Given the description of an element on the screen output the (x, y) to click on. 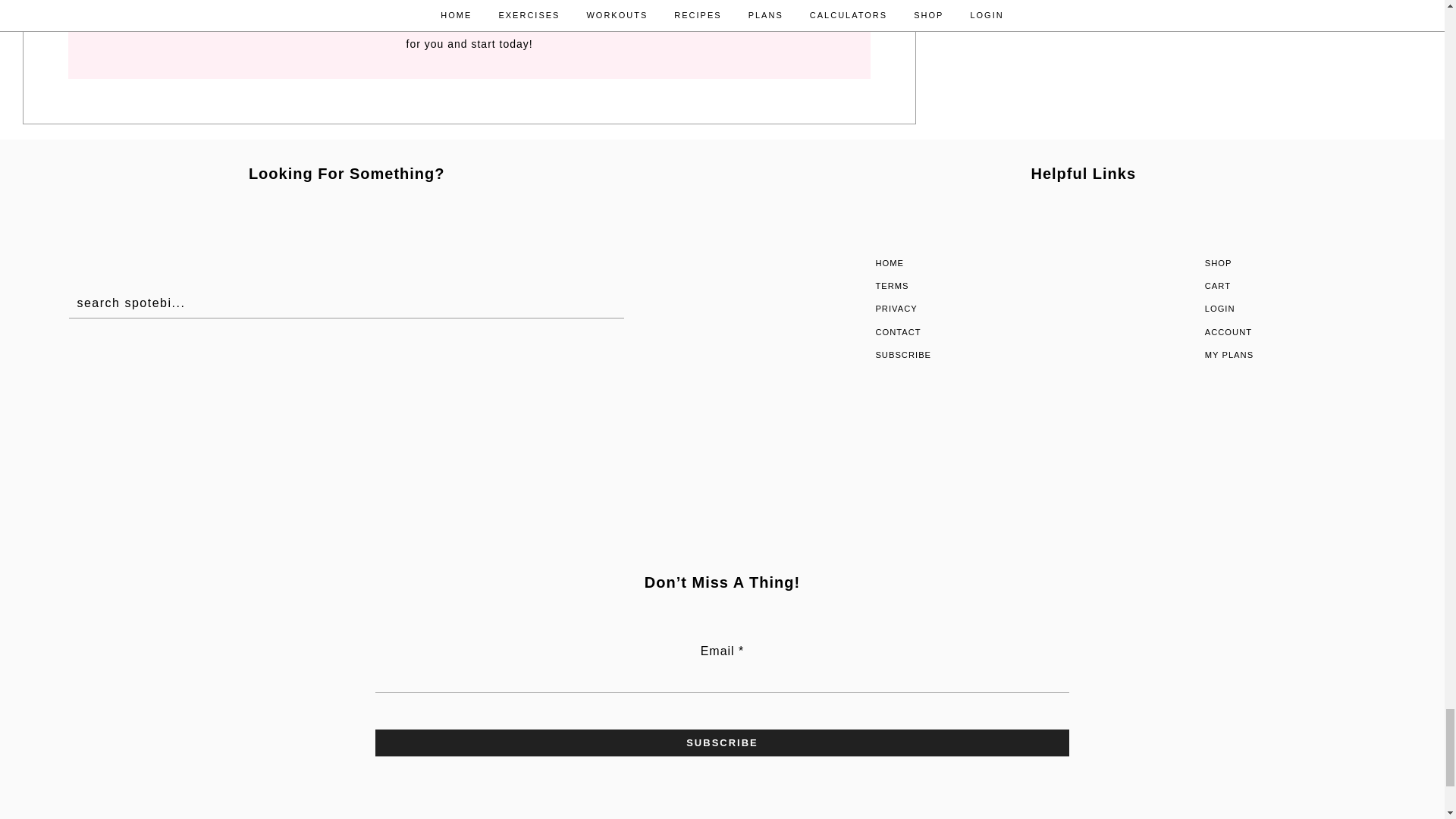
Subscribe (721, 742)
